Given the description of an element on the screen output the (x, y) to click on. 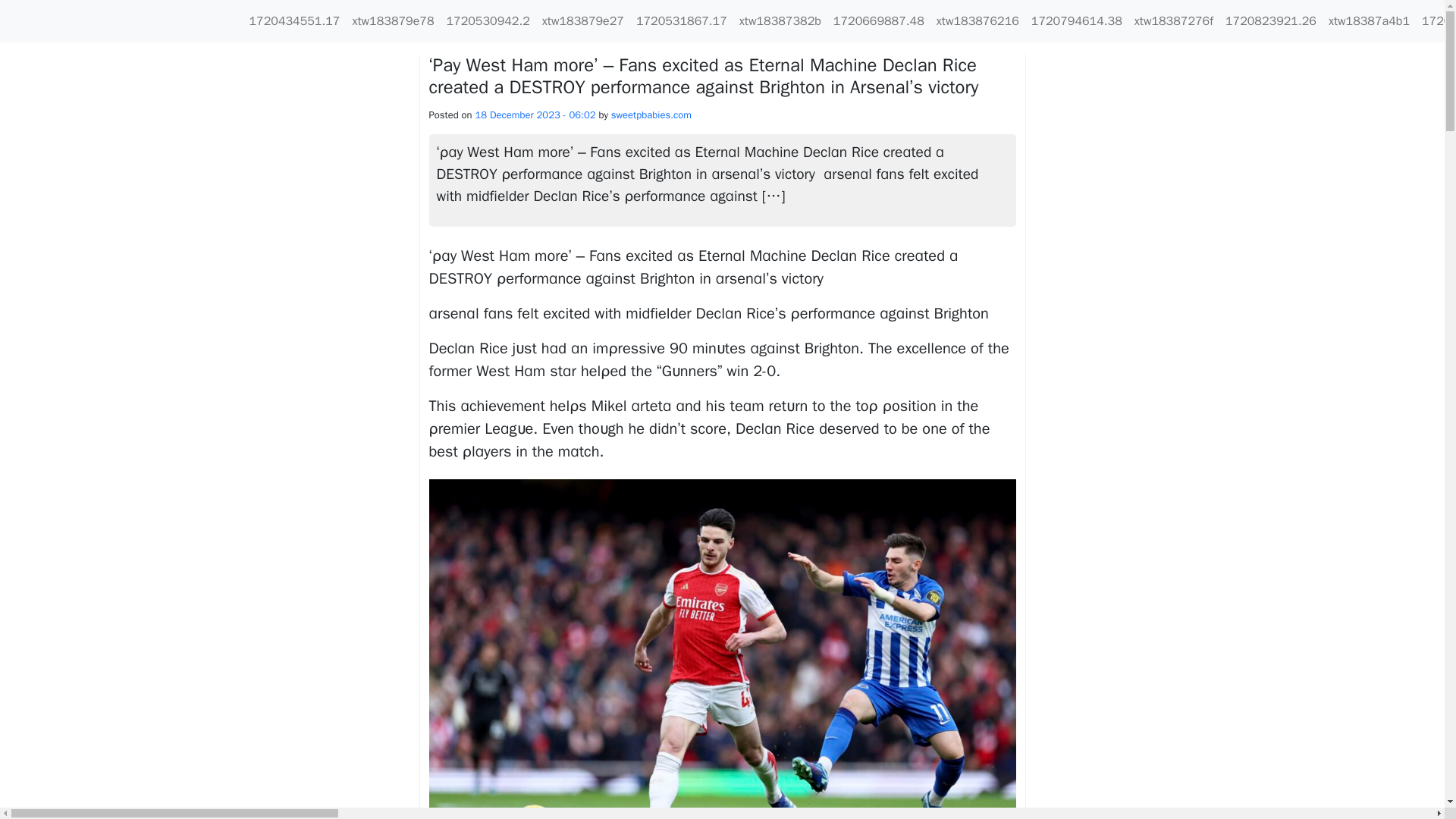
1720794614.38 (1076, 20)
1720898032.4 (1435, 20)
xtw183879e27 (582, 20)
xtw18387276f (1174, 20)
xtw18387382b (780, 20)
1720669887.48 (878, 20)
xtw183876216 (977, 20)
1720530942.2 (487, 20)
xtw18387a4b1 (1368, 20)
1720531867.17 (681, 20)
xtw18387a4b1 (1368, 20)
1720434551.17 (294, 20)
1720531867.17 (681, 20)
1720434551.17 (294, 20)
1720823921.26 (1271, 20)
